Given the description of an element on the screen output the (x, y) to click on. 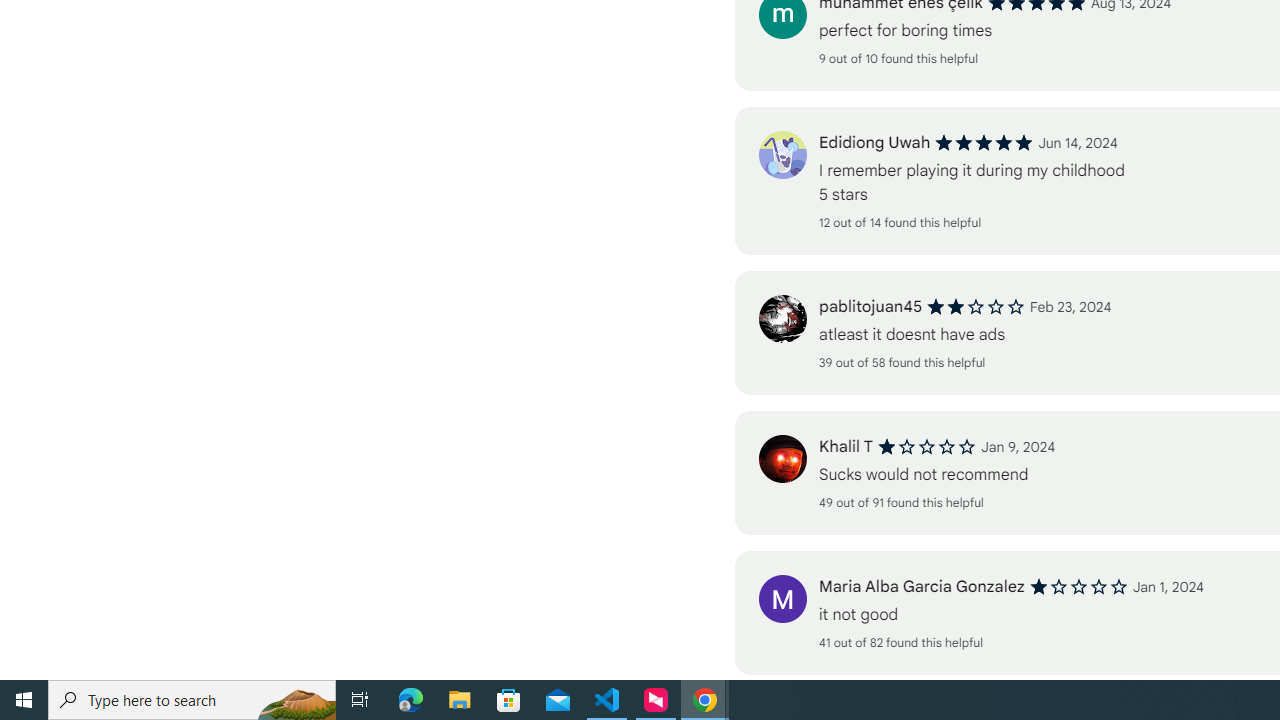
Review's profile picture (782, 598)
5 out of 5 stars (984, 142)
2 out of 5 stars (975, 306)
1 out of 5 stars (1077, 587)
